Given the description of an element on the screen output the (x, y) to click on. 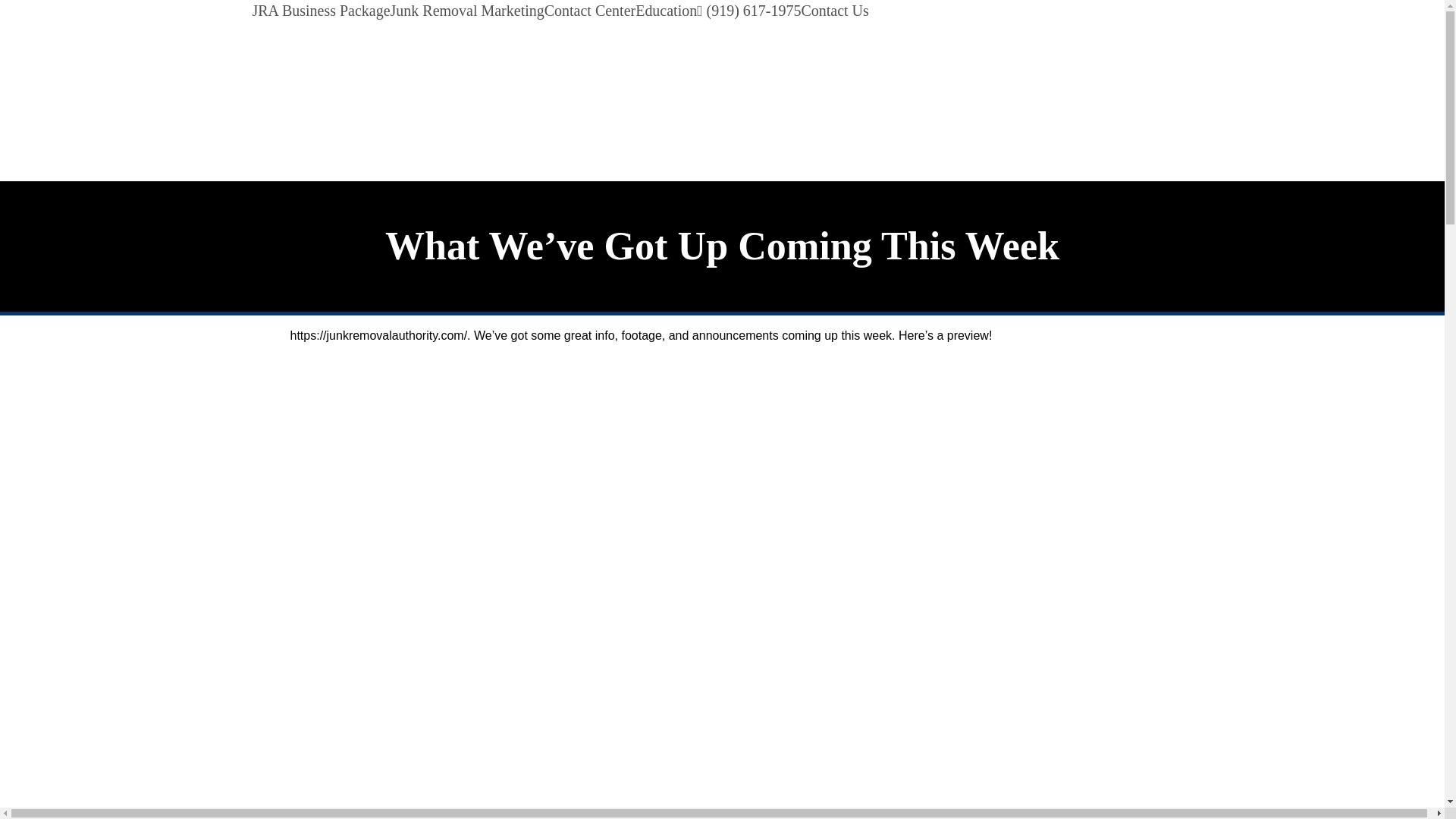
Education (665, 10)
Junk Removal Marketing (467, 10)
JRA Business Package (320, 10)
Contact Center (589, 10)
Contact Us (833, 10)
